Given the description of an element on the screen output the (x, y) to click on. 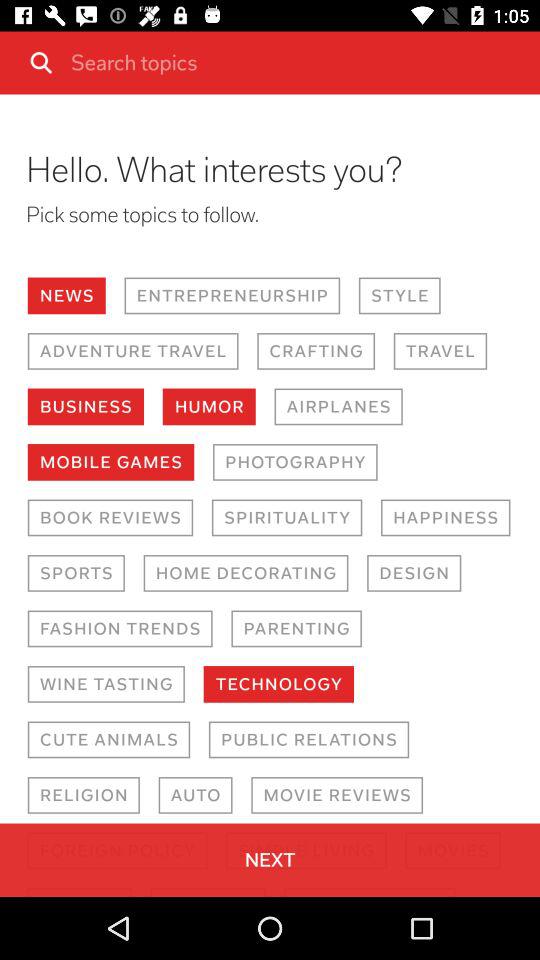
press the icon to the right of the adventure travel icon (315, 351)
